Given the description of an element on the screen output the (x, y) to click on. 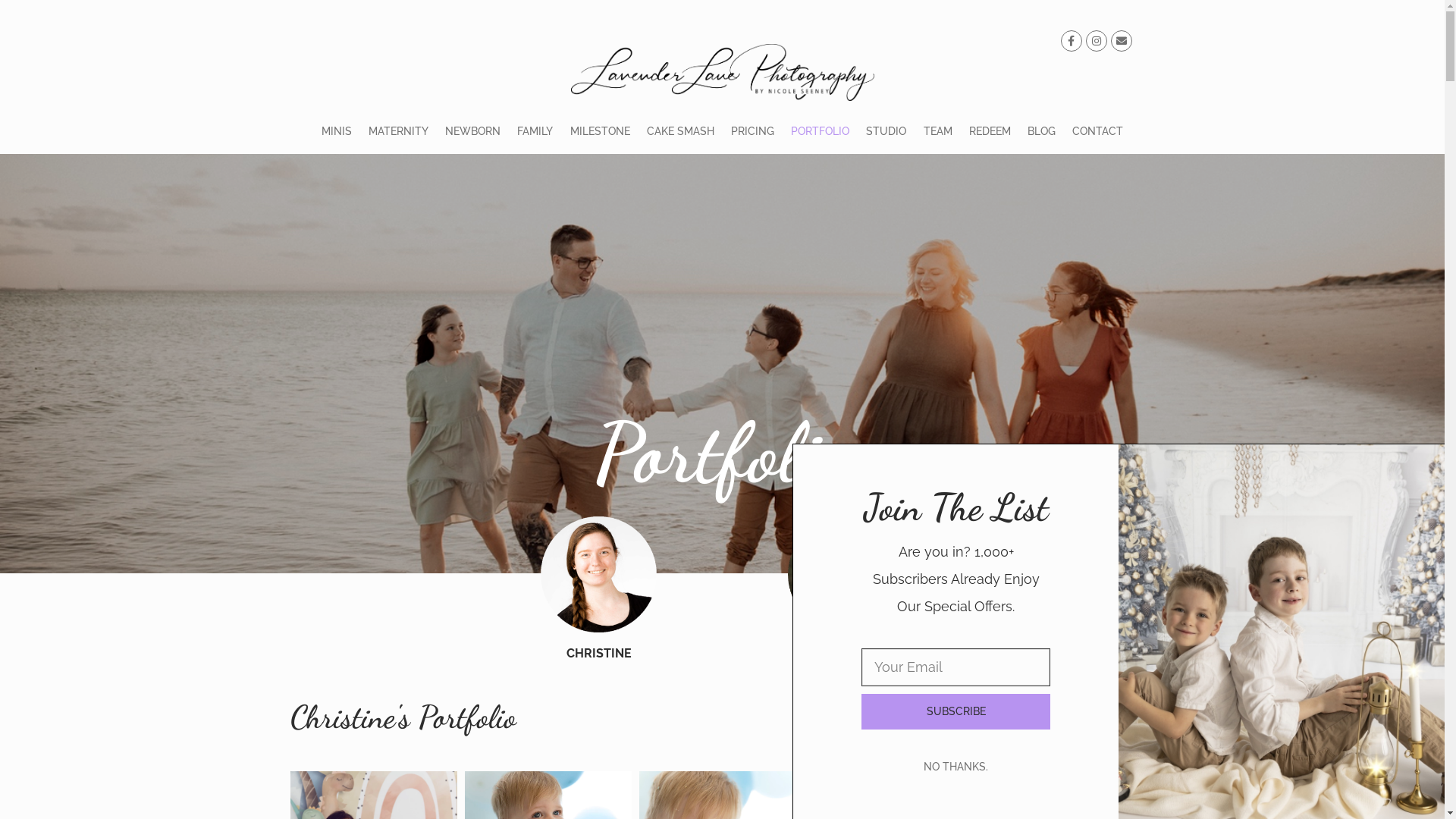
BLOG Element type: text (1041, 130)
CONTACT Element type: text (1097, 130)
CAKE SMASH Element type: text (680, 130)
PRICING Element type: text (752, 130)
STUDIO Element type: text (885, 130)
REDEEM Element type: text (989, 130)
PORTFOLIO Element type: text (819, 130)
TEAM Element type: text (937, 130)
NO THANKS. Element type: text (955, 766)
NICOLE Element type: text (845, 653)
MILESTONE Element type: text (599, 130)
NEWBORN Element type: text (472, 130)
SUBSCRIBE Element type: text (955, 710)
MATERNITY Element type: text (398, 130)
MINIS Element type: text (335, 130)
CHRISTINE Element type: text (598, 653)
FAMILY Element type: text (534, 130)
